Given the description of an element on the screen output the (x, y) to click on. 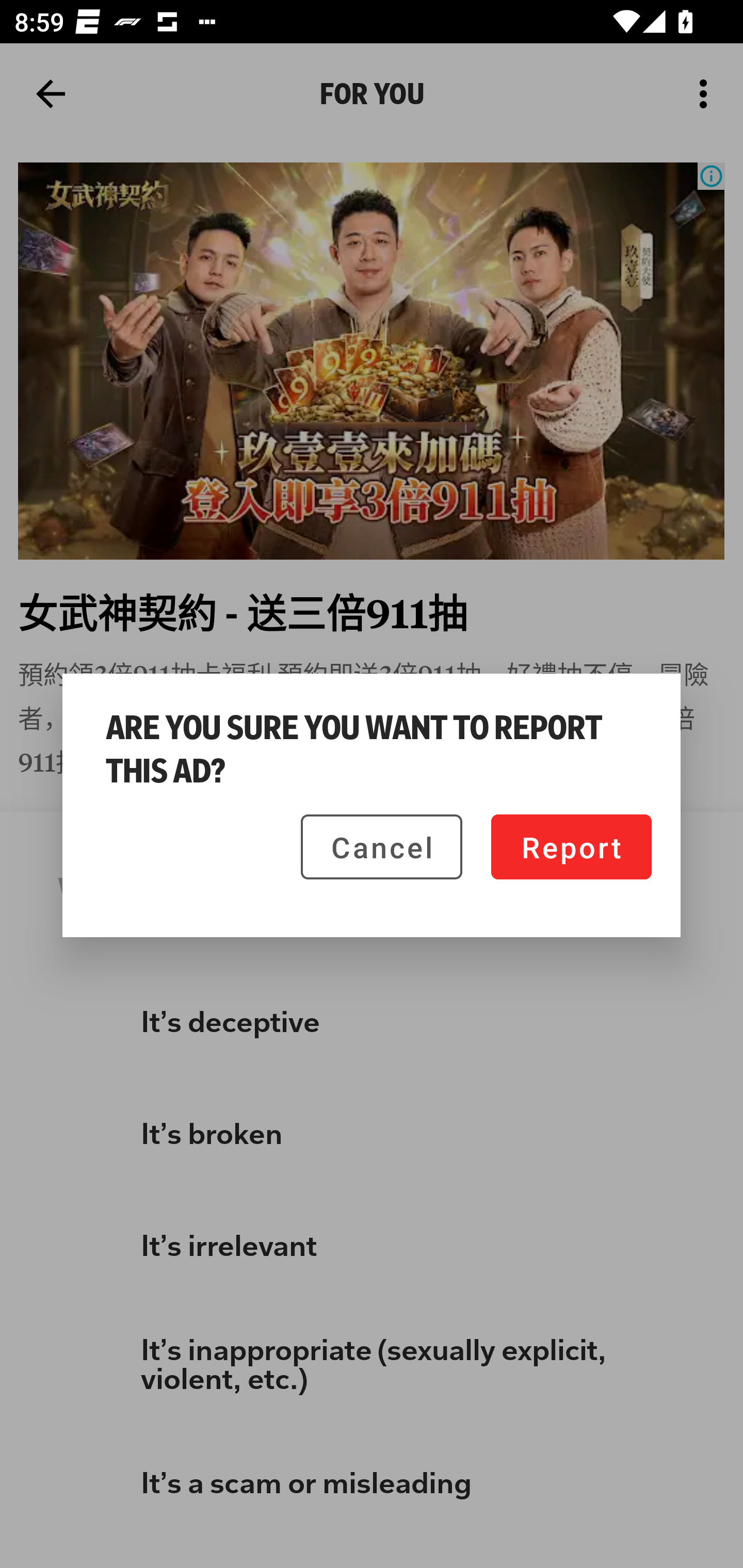
Cancel (381, 846)
Report (571, 846)
